Given the description of an element on the screen output the (x, y) to click on. 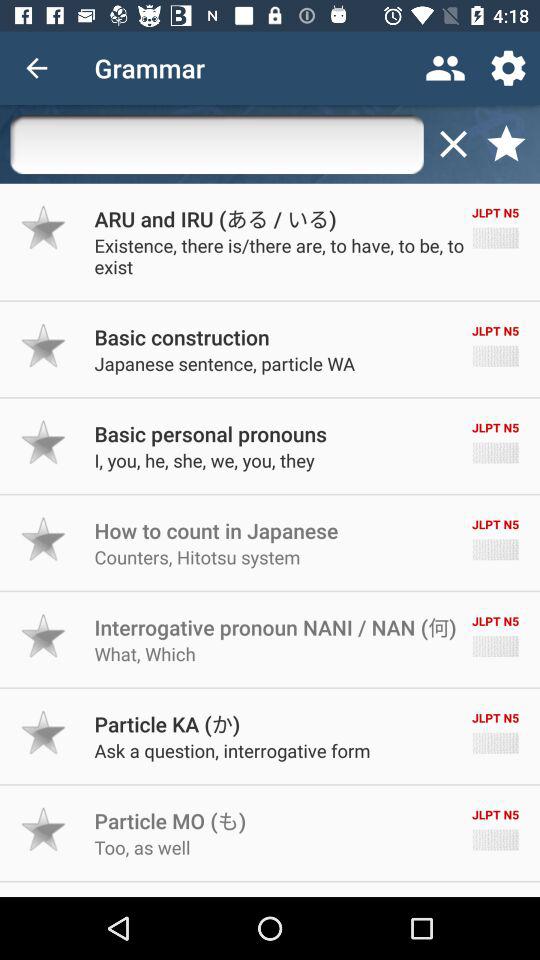
toggle star option (44, 345)
